Given the description of an element on the screen output the (x, y) to click on. 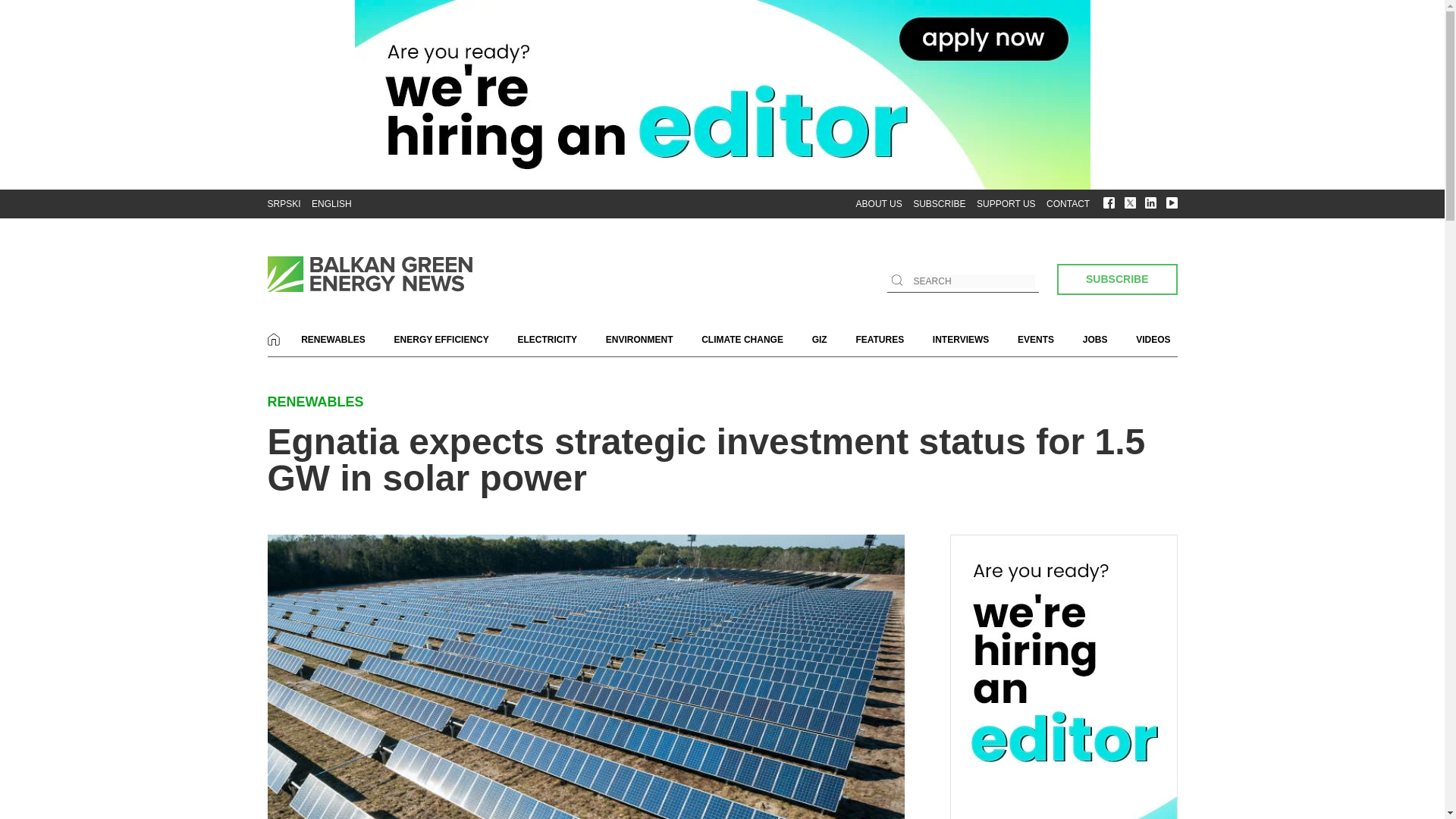
INTERVIEWS (960, 339)
HOME (273, 338)
CONTACT (1067, 204)
ELECTRICITY (546, 339)
GIZ (819, 339)
SUPPORT US (1005, 204)
SUBSCRIBE (1116, 278)
CLIMATE CHANGE (742, 339)
ENVIRONMENT (639, 339)
VIDEOS (1152, 339)
ABOUT US (879, 204)
JOBS (1095, 339)
SUBSCRIBE (1116, 278)
ENERGY EFFICIENCY (441, 339)
SRPSKI (282, 204)
